Given the description of an element on the screen output the (x, y) to click on. 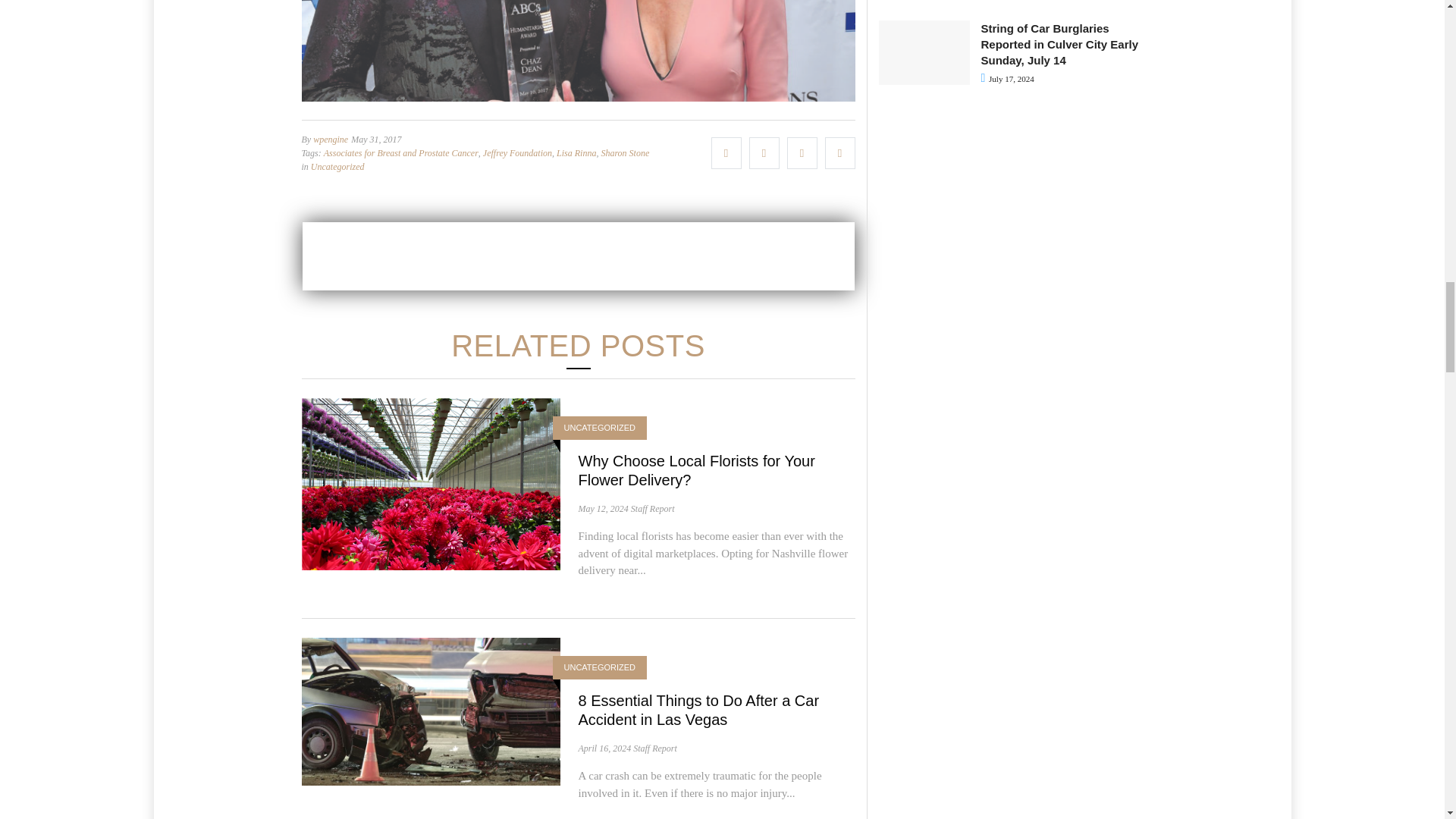
Why Choose Local Florists for Your Flower Delivery? (695, 470)
8 Essential Things to Do After a Car Accident in Las Vegas (430, 710)
Uncategorized (338, 166)
UNCATEGORIZED (600, 427)
8 Essential Things to Do After a Car Accident in Las Vegas (698, 710)
Lisa Rinna (575, 152)
Why Choose Local Florists for Your Flower Delivery? (430, 482)
Posts by wpengine (330, 139)
Why Choose Local Florists for Your Flower Delivery? (695, 470)
3rd party ad content (577, 255)
Jeffrey Foundation (517, 152)
Associates for Breast and Prostate Cancer (401, 152)
Posts by Staff Report (655, 747)
wpengine (330, 139)
Staff Report (652, 508)
